Given the description of an element on the screen output the (x, y) to click on. 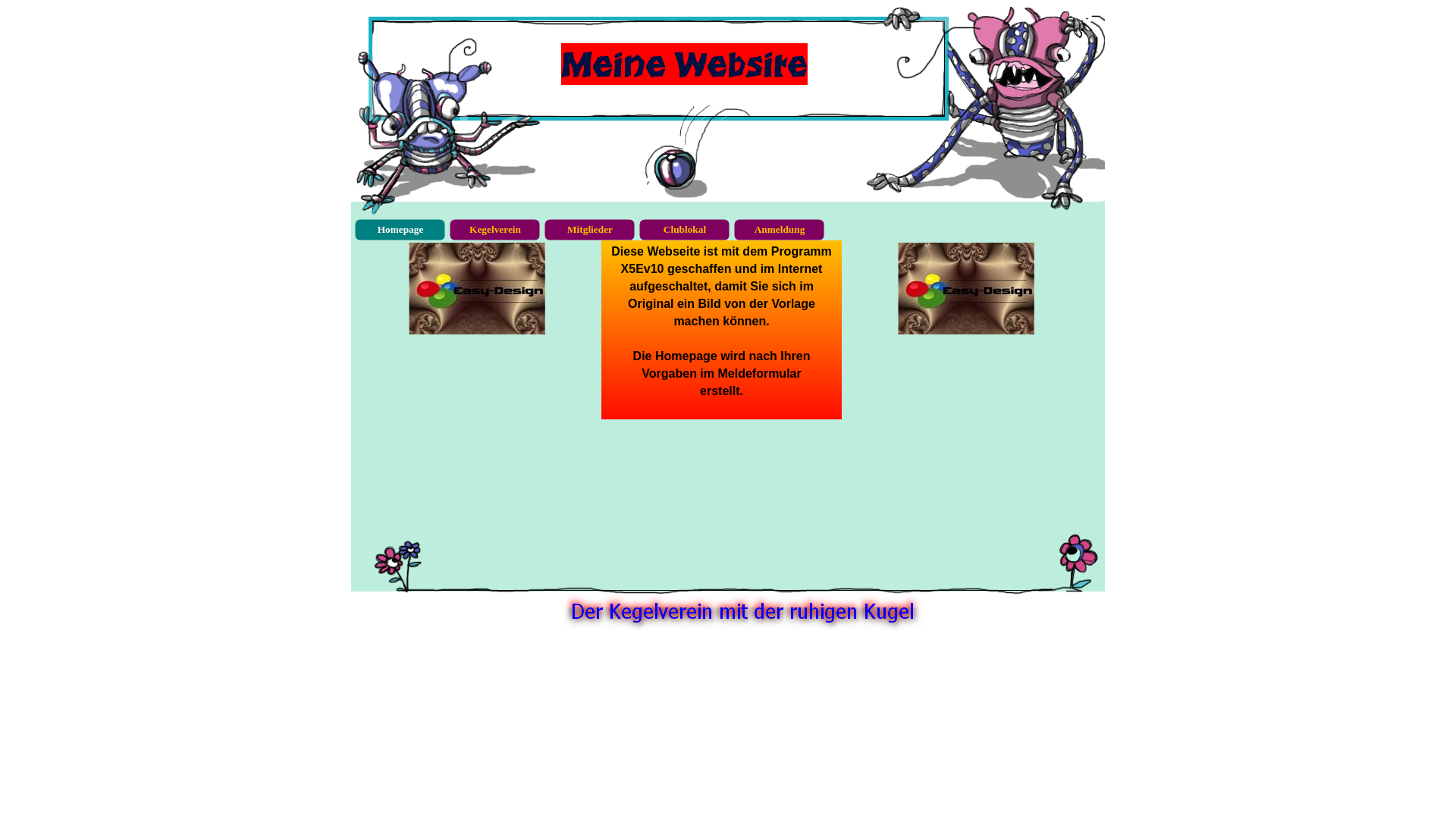
Mitglieder Element type: text (589, 229)
Homepage Element type: text (399, 229)
Clublokal Element type: text (684, 229)
Kegelverein Element type: text (494, 229)
Anmeldung Element type: text (779, 229)
